Given the description of an element on the screen output the (x, y) to click on. 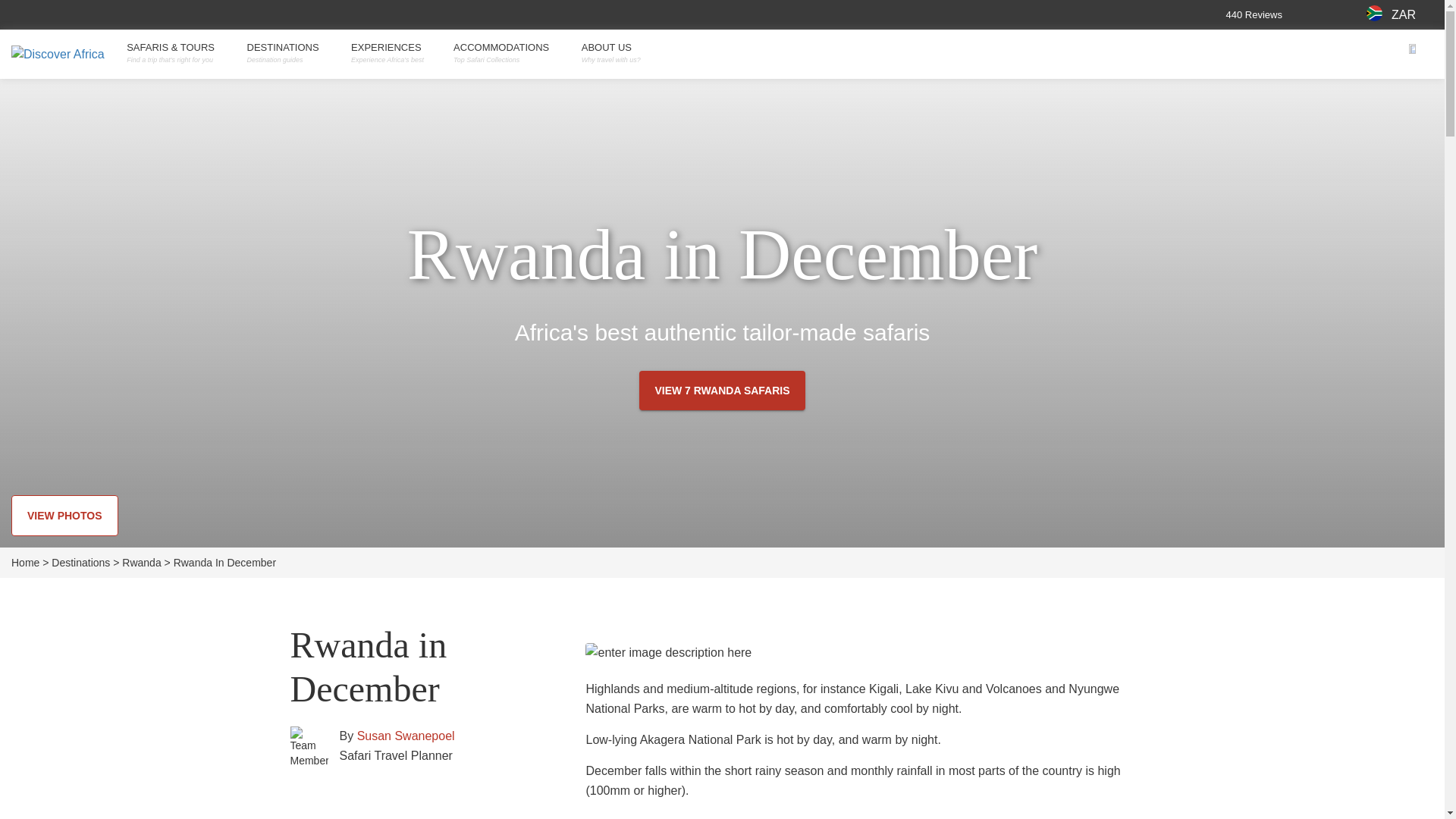
DESTINATIONS (288, 47)
Destinations (84, 562)
VIEW PHOTOS (64, 515)
Find a trip that's right for you (175, 59)
Rwanda in December (224, 562)
Rwanda (146, 562)
Destination guides (288, 59)
440 Reviews (1291, 14)
